Given the description of an element on the screen output the (x, y) to click on. 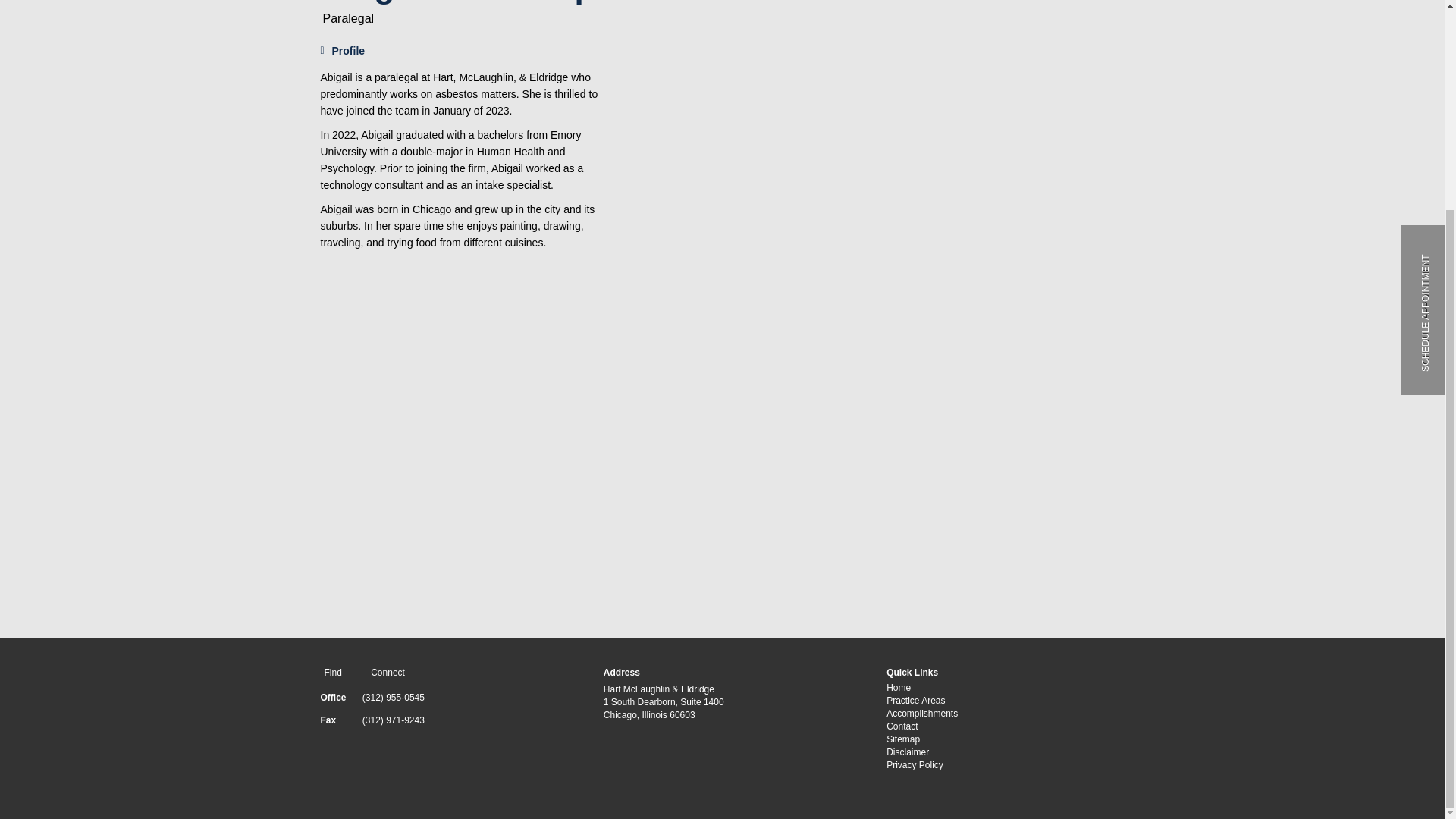
Privacy Policy (914, 765)
Home (898, 687)
Sitemap (903, 738)
Find (330, 672)
Profile (342, 50)
Accomplishments (922, 713)
Practice Areas (915, 700)
Disclaimer (907, 751)
Contact (901, 726)
Connect (385, 672)
